Given the description of an element on the screen output the (x, y) to click on. 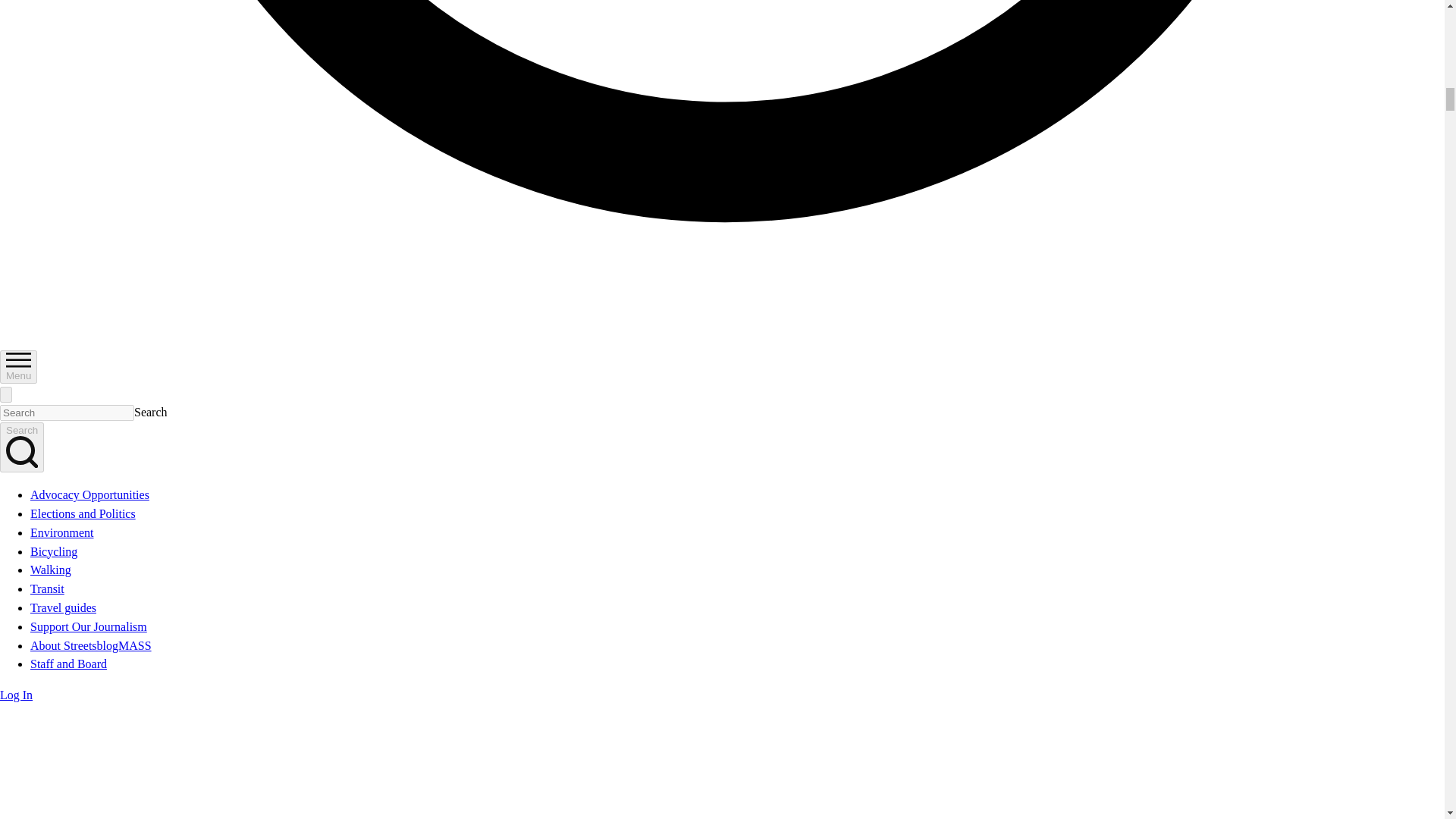
Menu (18, 366)
About StreetsblogMASS (90, 645)
Walking (50, 569)
Support Our Journalism (88, 626)
Transit (47, 588)
Staff and Board (68, 663)
Travel guides (63, 607)
Advocacy Opportunities (89, 494)
Bicycling (53, 551)
Environment (62, 532)
Elections and Politics (82, 513)
